Given the description of an element on the screen output the (x, y) to click on. 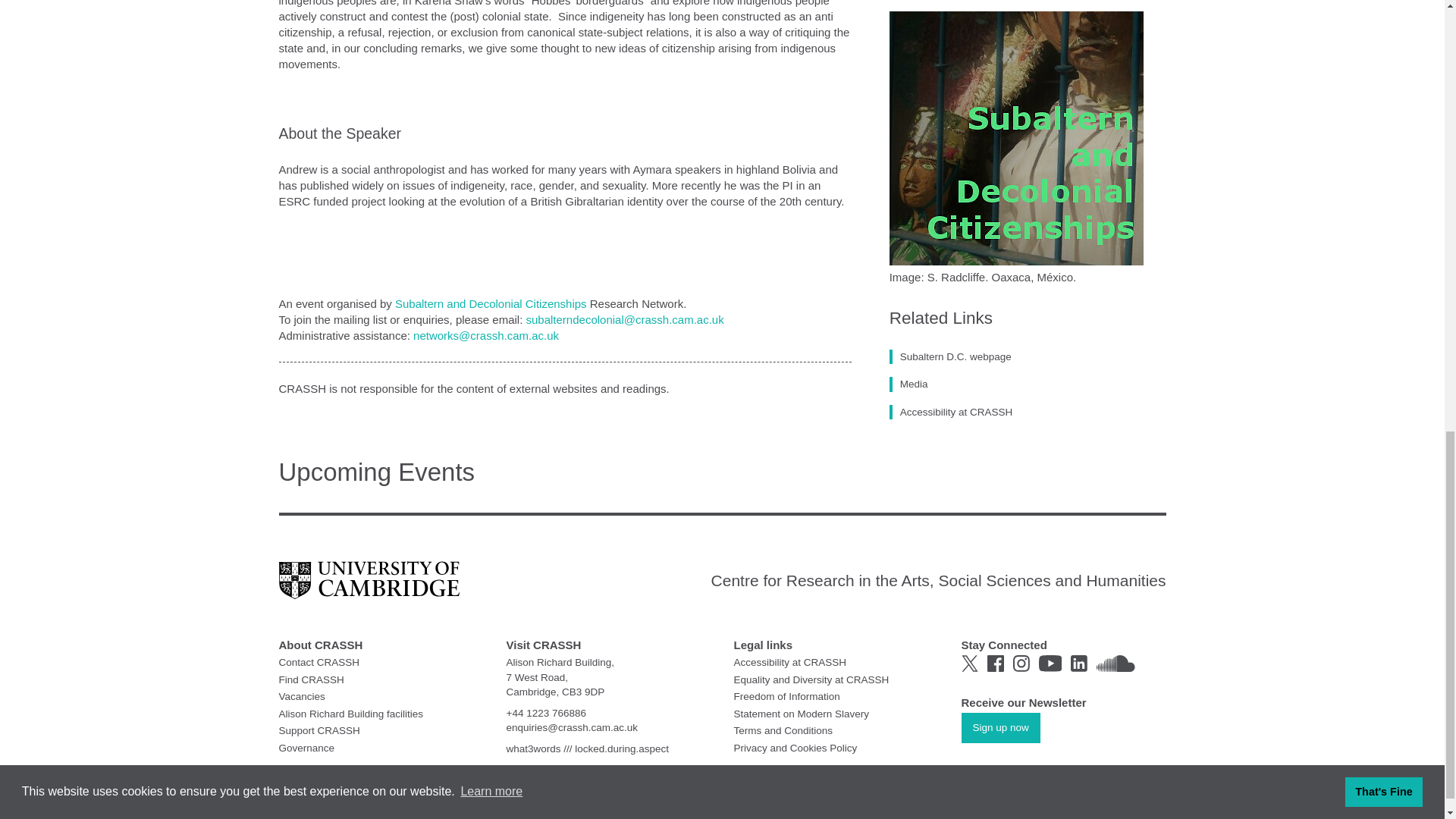
Vacancies (301, 696)
Privacy and Cookies Policy (795, 747)
Freedom of Information (786, 696)
Governance (306, 747)
Subaltern and Decolonial Citizenships (490, 303)
Support CRASSH (319, 730)
Alison Richard Building facilities (351, 713)
Accessibility at CRASSH (790, 662)
Equality and Diversity at CRASSH (811, 678)
Terms and Conditions (782, 730)
Find CRASSH (311, 678)
Contact CRASSH (319, 662)
Statement on Modern Slavery (801, 713)
